Given the description of an element on the screen output the (x, y) to click on. 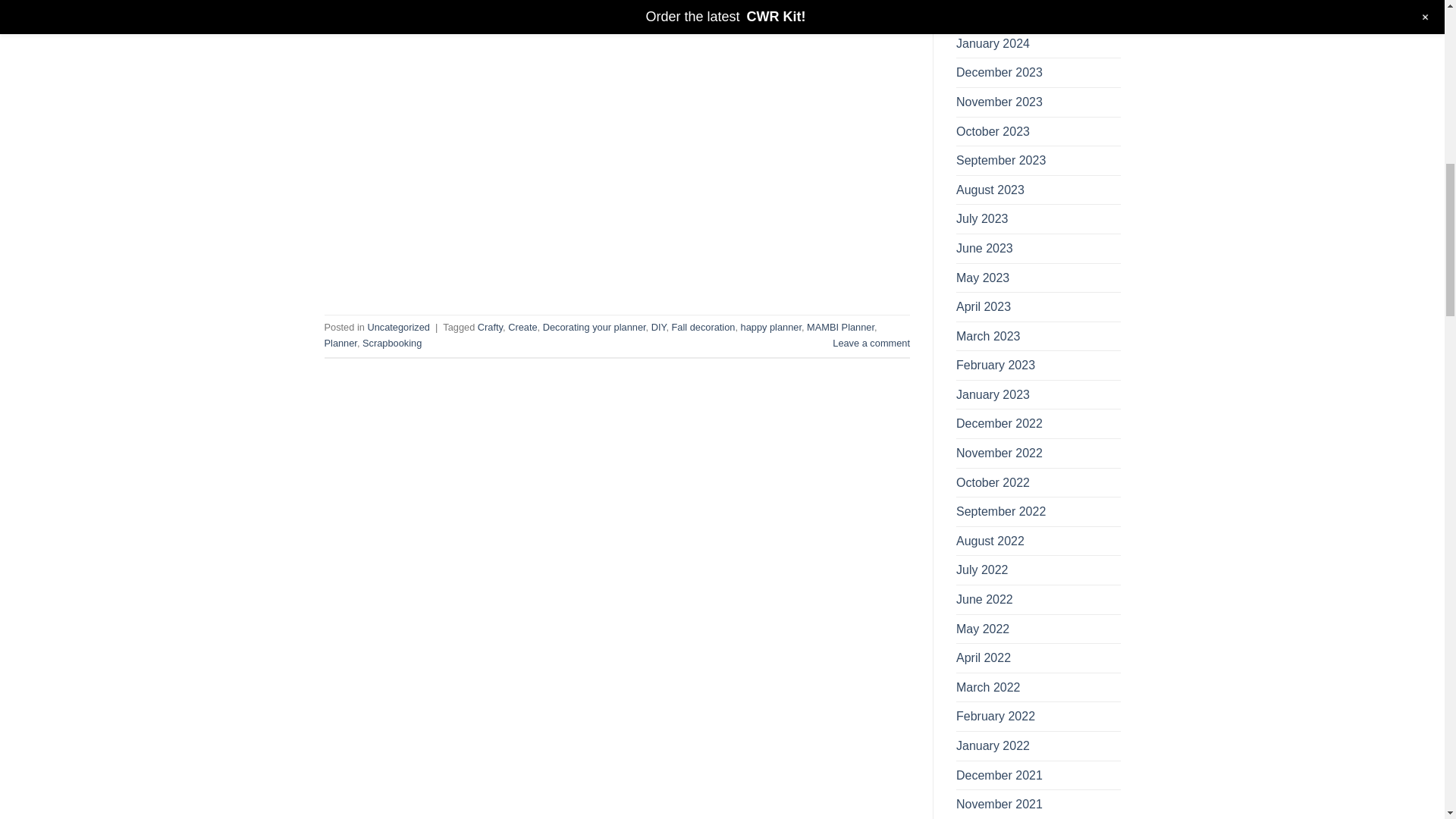
MAMBI Planner (840, 326)
happy planner (771, 326)
Scrapbooking (392, 342)
Decorating your planner (594, 326)
Crafty (489, 326)
Create (522, 326)
Planner (340, 342)
DIY (658, 326)
Leave a comment (871, 342)
Fall decoration (703, 326)
Uncategorized (397, 326)
